Given the description of an element on the screen output the (x, y) to click on. 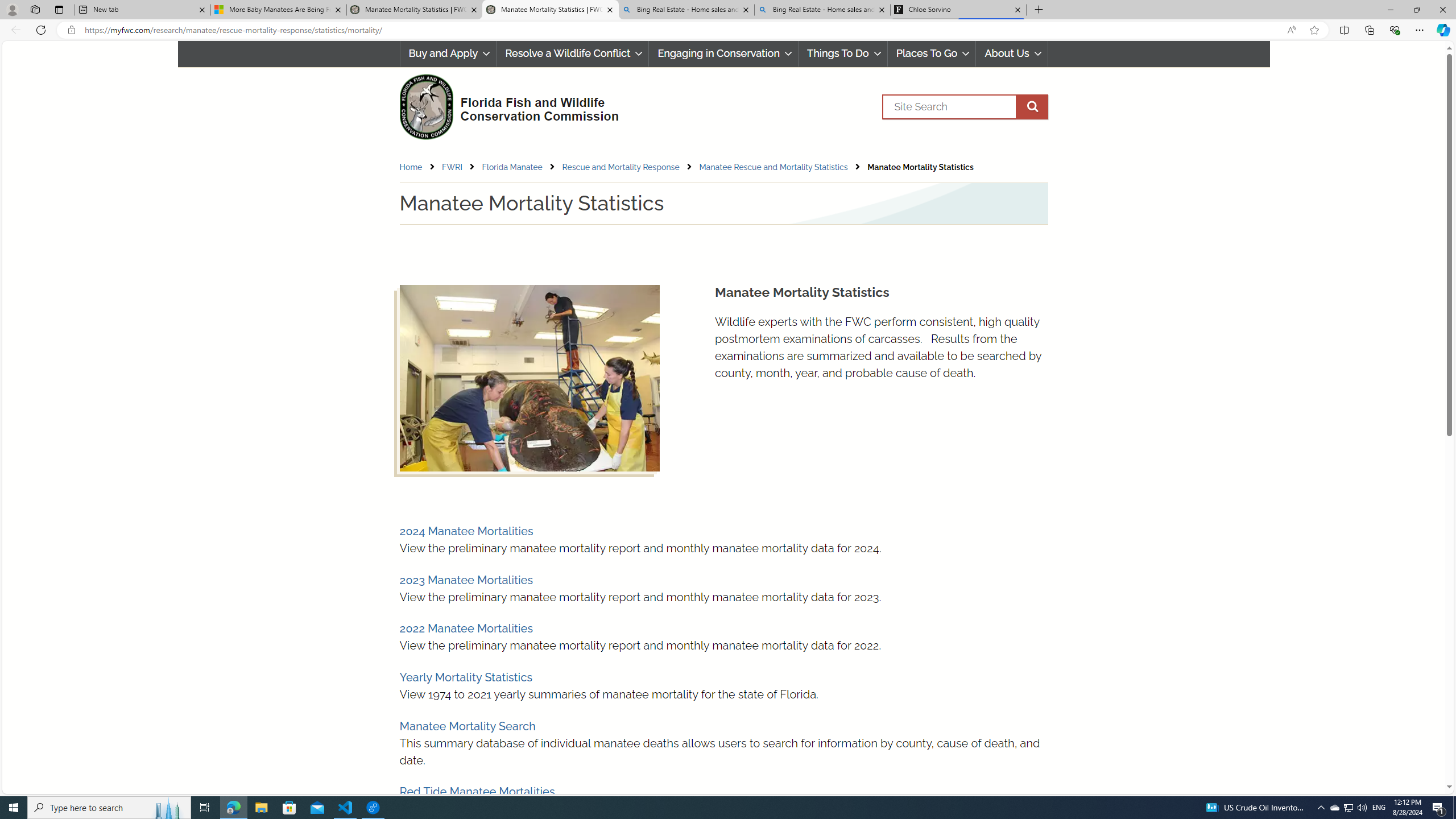
FWC Logo Florida Fish and Wildlife Conservation Commission (504, 104)
Things To Do (841, 53)
Red Tide Manatee Mortalities (476, 791)
Places To Go (930, 53)
Engaging in Conservation (724, 53)
Things To Do (842, 53)
2022 Manatee Mortalities (465, 628)
Home (410, 166)
